Given the description of an element on the screen output the (x, y) to click on. 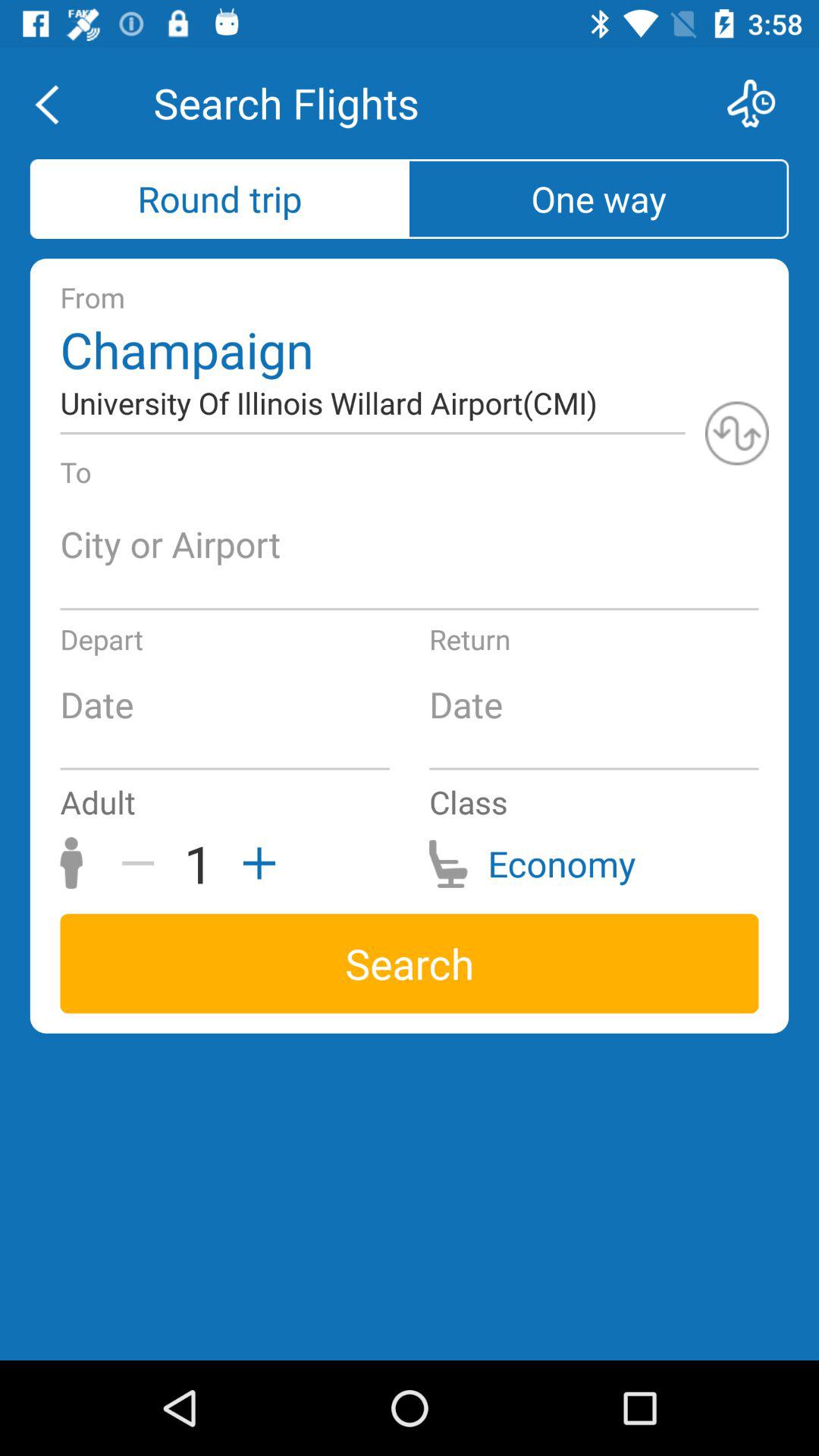
turn off the icon to the left of the 1 icon (143, 863)
